Given the description of an element on the screen output the (x, y) to click on. 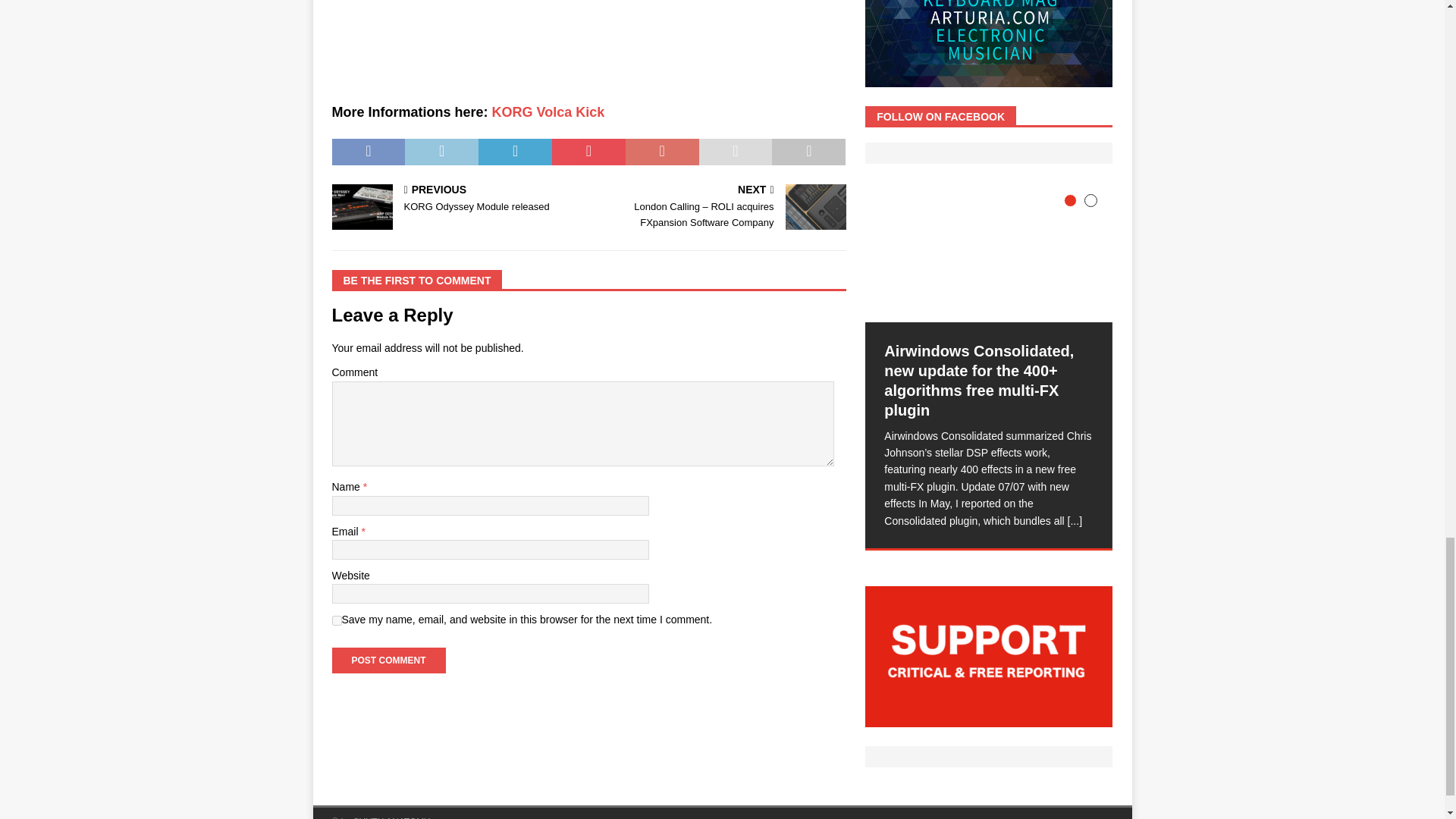
yes (336, 620)
Post Comment (388, 660)
